Given the description of an element on the screen output the (x, y) to click on. 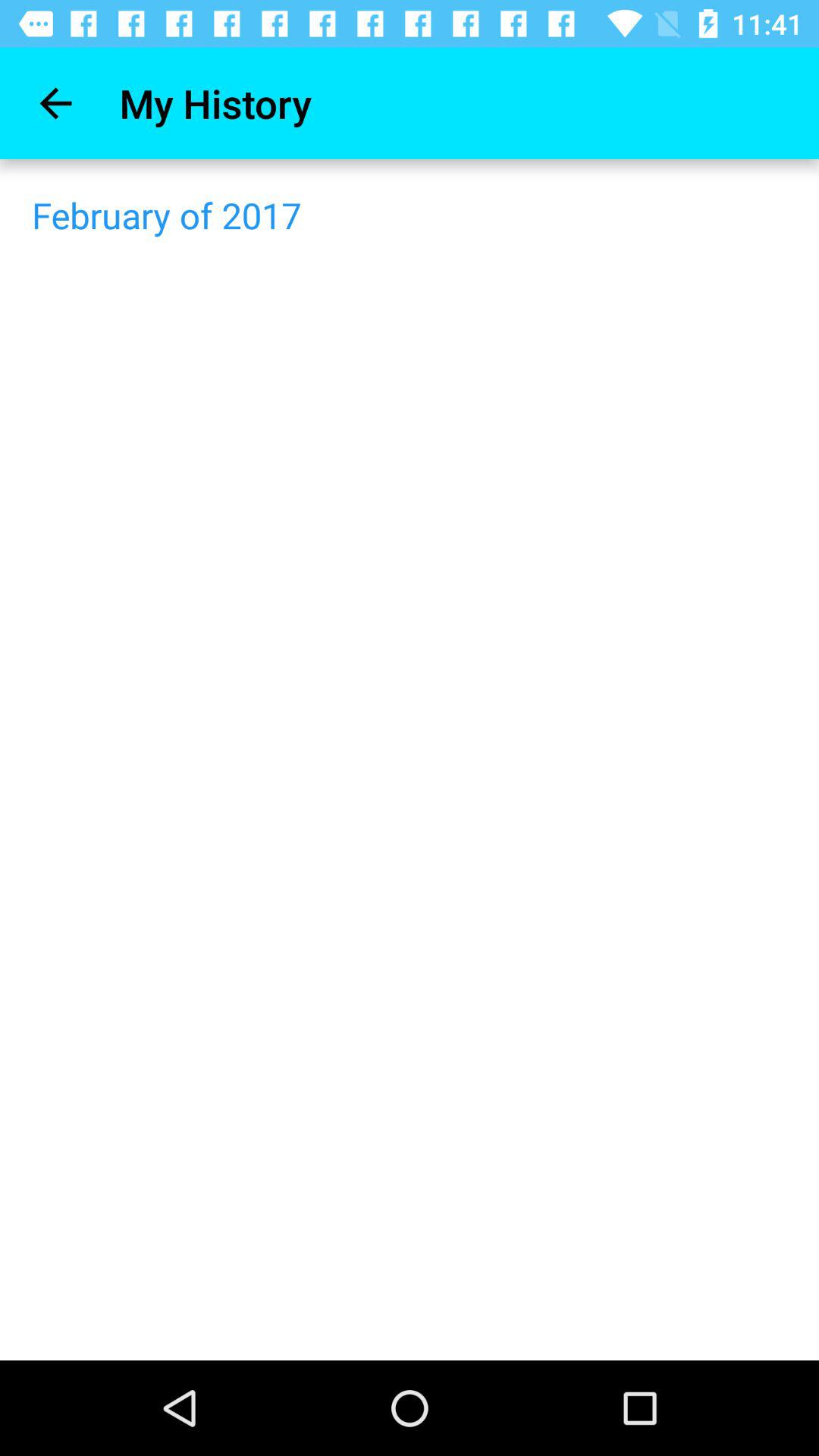
tap the app to the left of the my history item (55, 103)
